Given the description of an element on the screen output the (x, y) to click on. 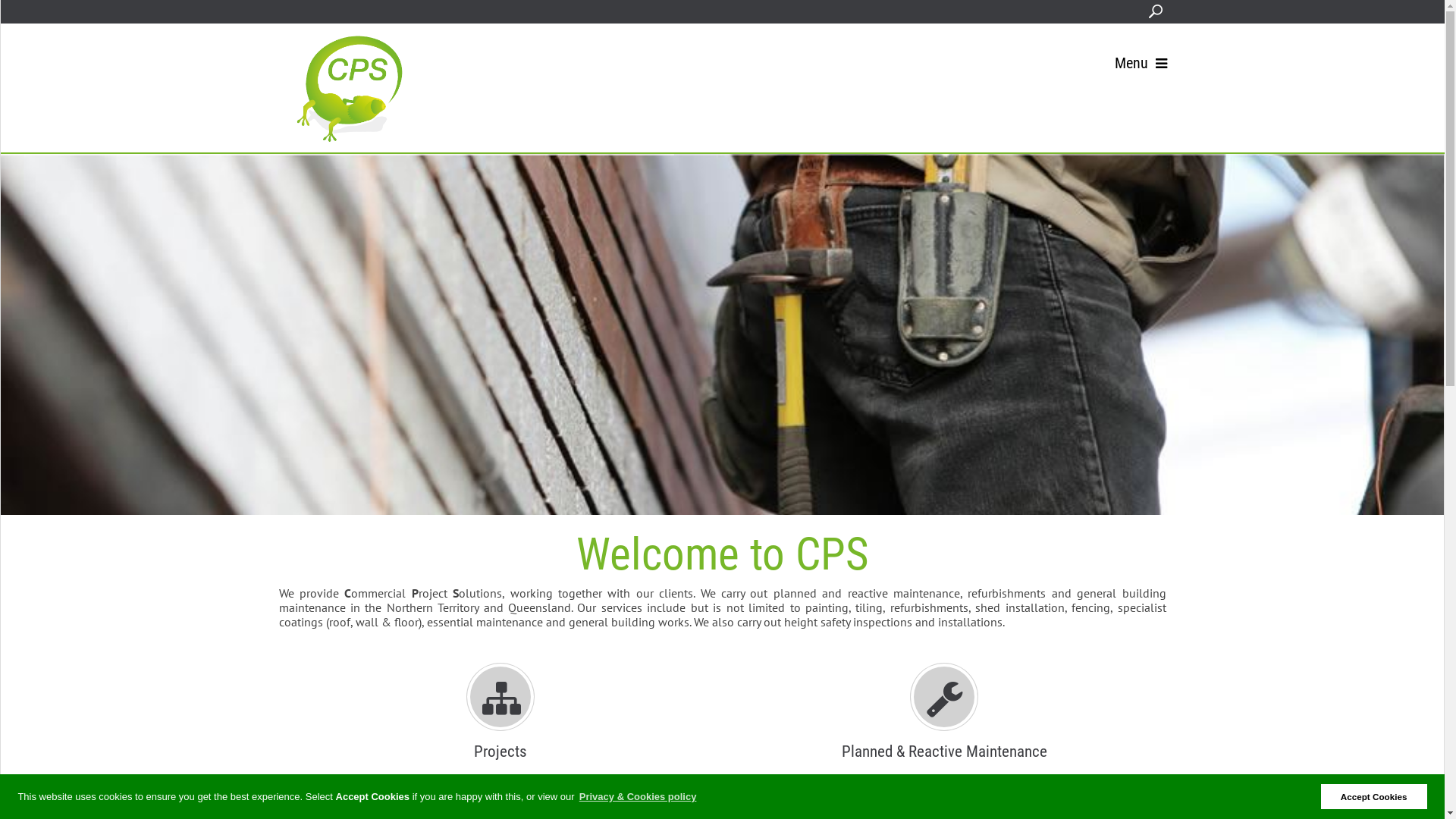
Accept Cookies Element type: text (1374, 796)
Media link Element type: text (721, 333)
Privacy & Cookies policy Element type: text (637, 796)
CPS Building Services Element type: hover (347, 87)
